Given the description of an element on the screen output the (x, y) to click on. 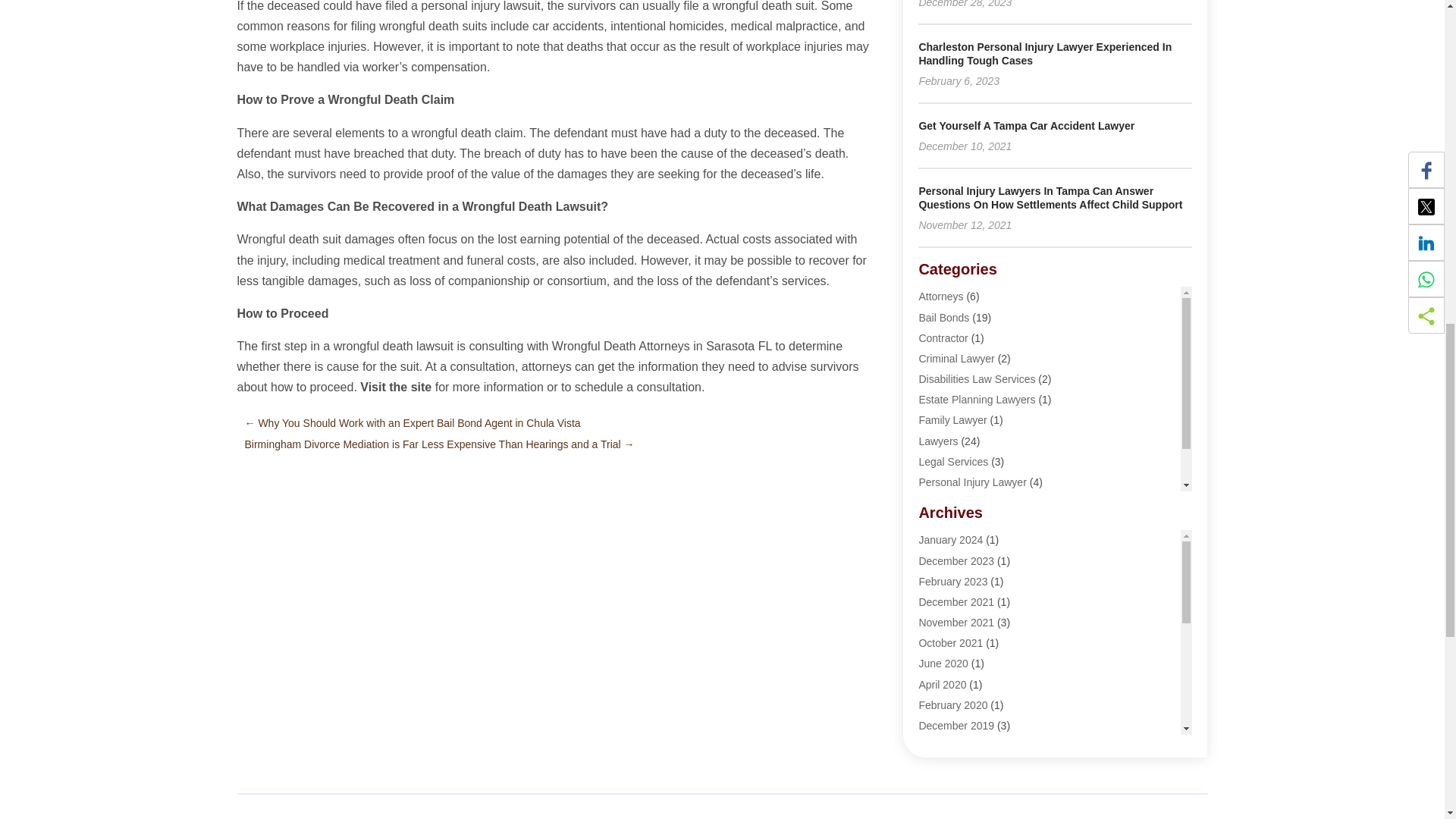
December 2023 (956, 561)
Virtual Law Office (959, 502)
Criminal Lawyer (956, 358)
Lawyers (938, 440)
Family Lawyer (952, 419)
February 2023 (952, 581)
Get Yourself A Tampa Car Accident Lawyer (1026, 125)
Estate Planning Lawyers (976, 399)
Wrongful Death (954, 522)
Attorneys (940, 296)
January 2024 (950, 539)
Personal Injury Lawyer (972, 481)
Legal Services (953, 461)
